Given the description of an element on the screen output the (x, y) to click on. 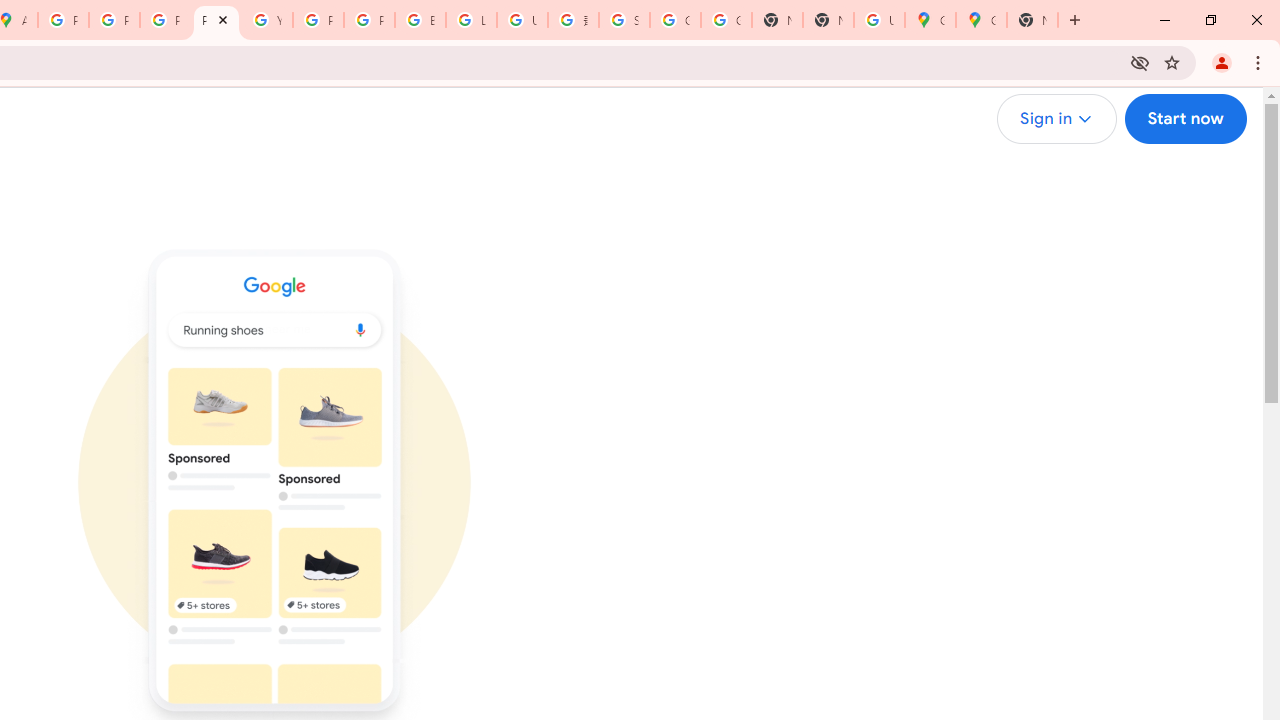
Use Google Maps in Space - Google Maps Help (878, 20)
Privacy Help Center - Policies Help (113, 20)
New Tab (827, 20)
Policy Accountability and Transparency - Transparency Center (63, 20)
Google Maps (930, 20)
